Given the description of an element on the screen output the (x, y) to click on. 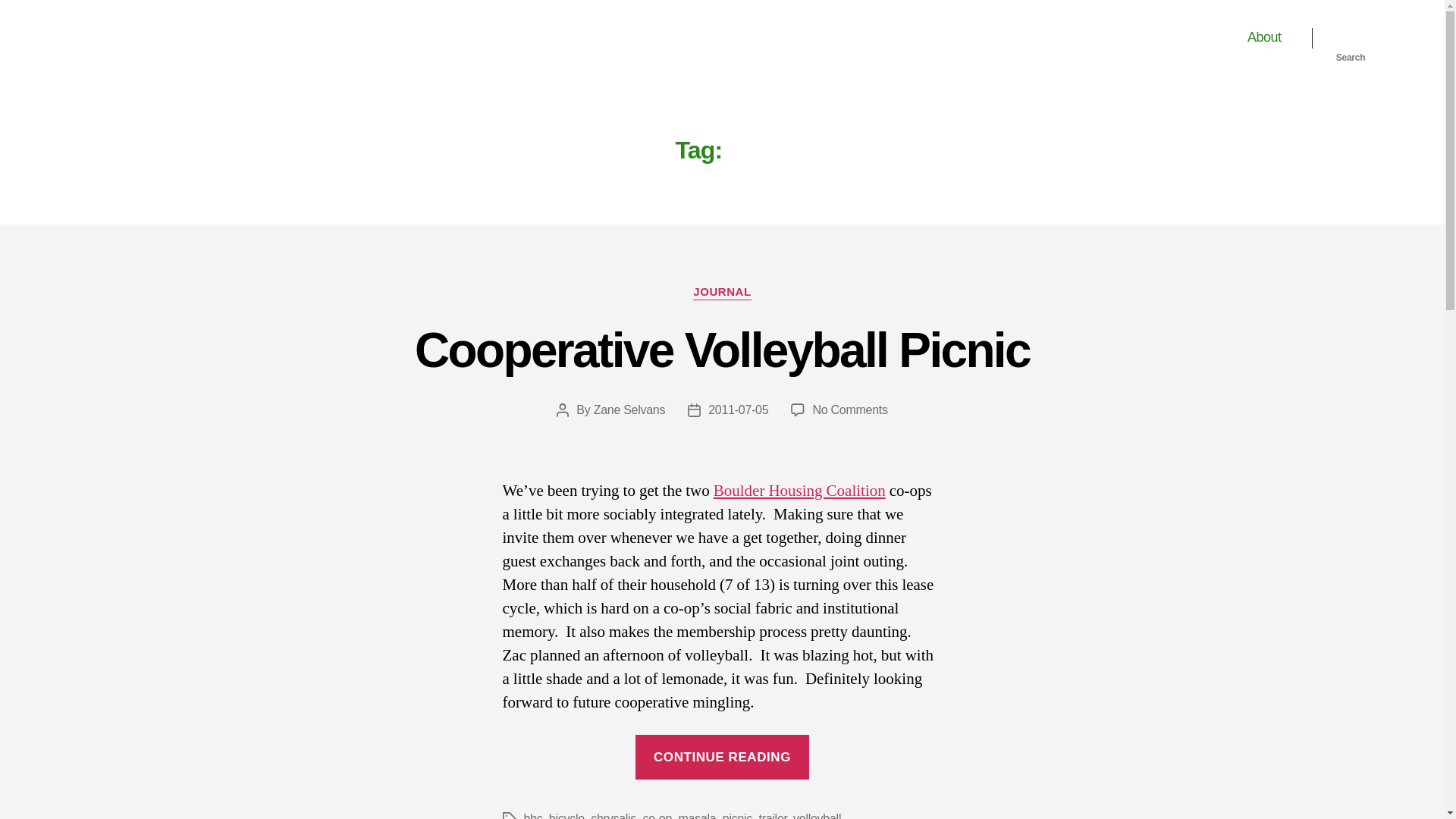
JOURNAL (849, 409)
trailer (722, 292)
About (772, 815)
Boulder Housing Coalition (1264, 37)
Zane Selvans (799, 490)
volleyball (138, 37)
co-op (817, 815)
Cooperative Volleyball Picnic (656, 815)
picnic (721, 349)
